Given the description of an element on the screen output the (x, y) to click on. 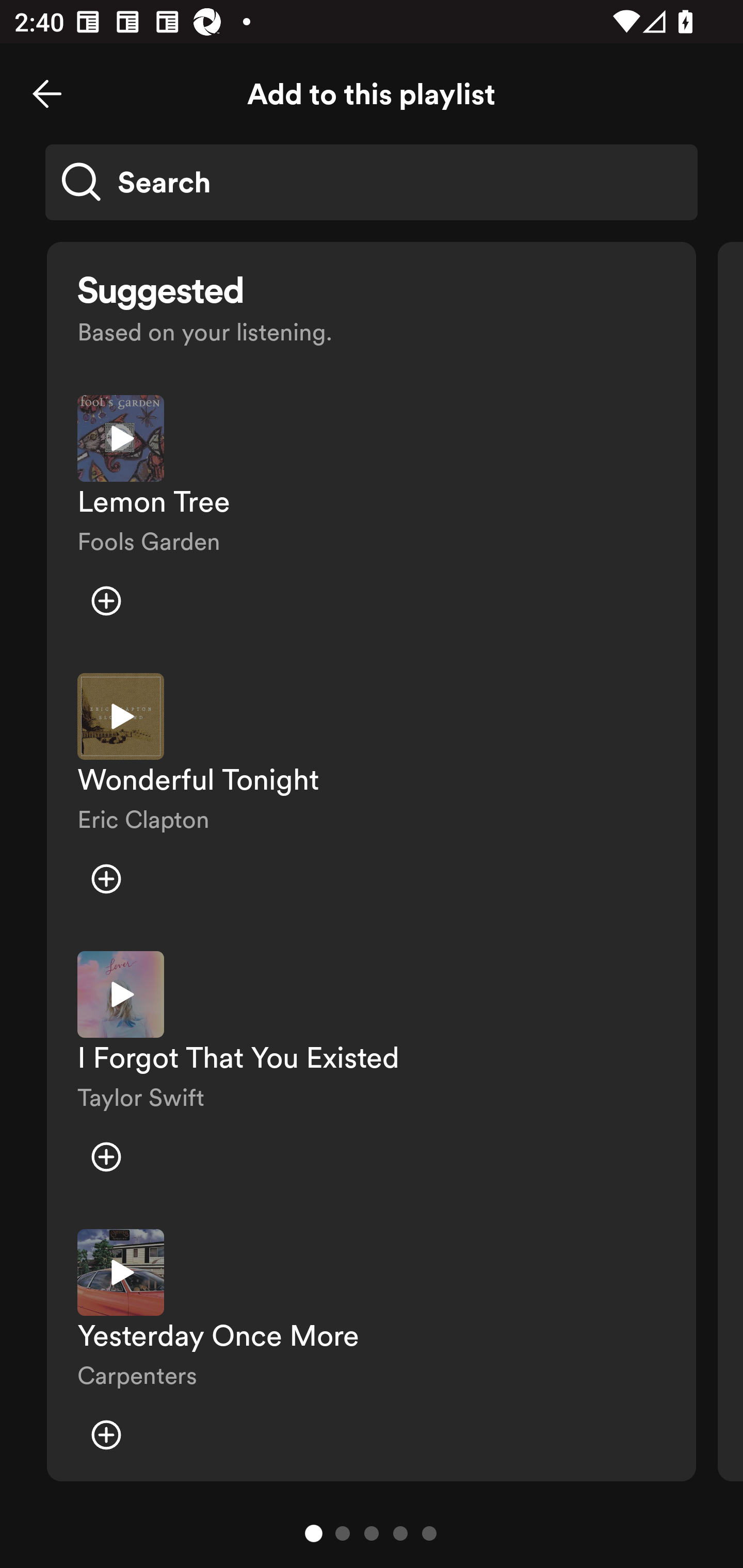
Close (46, 93)
Search (371, 181)
Play preview Lemon Tree Fools Garden Add item (371, 519)
Play preview (120, 438)
Add item (106, 601)
Play preview (120, 716)
Add item (106, 878)
Play preview (120, 994)
Add item (106, 1156)
Play preview (120, 1272)
Add item (106, 1435)
